Given the description of an element on the screen output the (x, y) to click on. 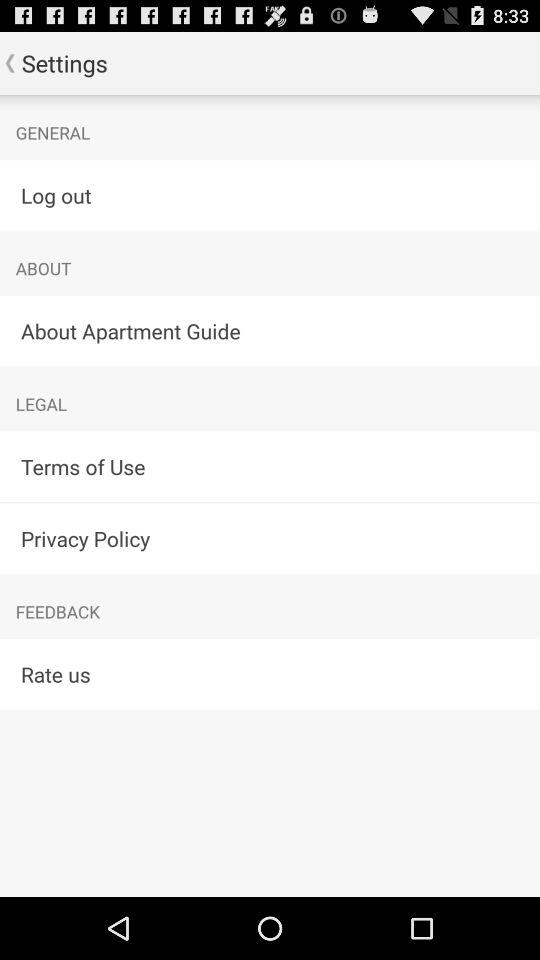
click the item below legal icon (270, 466)
